Given the description of an element on the screen output the (x, y) to click on. 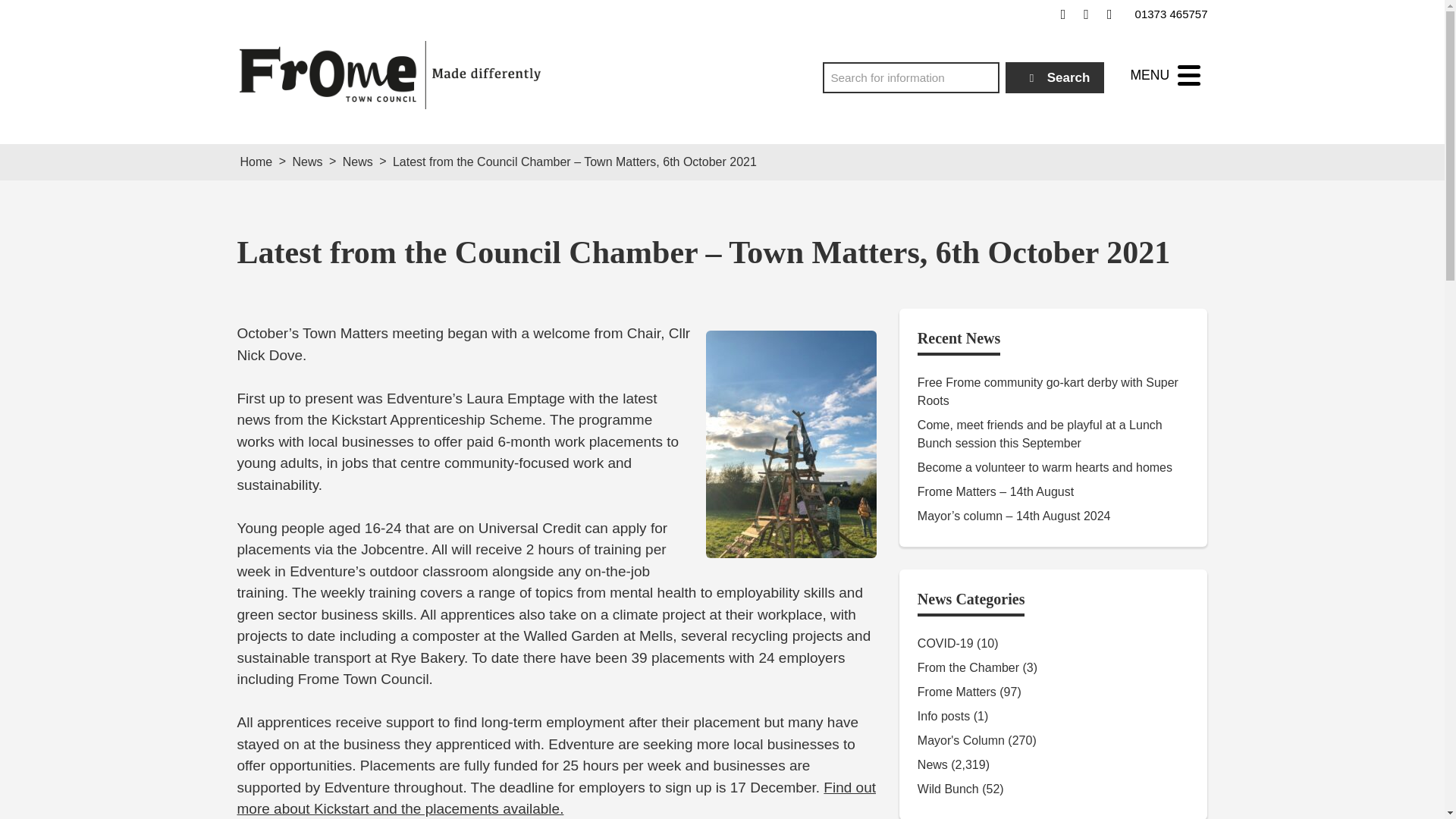
Search (1055, 77)
MENU (1164, 75)
Frome Town Council's Facebook (1063, 13)
Go to News. (306, 161)
Go to the News Category archives. (357, 161)
Frome Town Council's Instagram (1109, 13)
Go to Home. (256, 161)
Frome Town Council's Twitter (1085, 13)
